Given the description of an element on the screen output the (x, y) to click on. 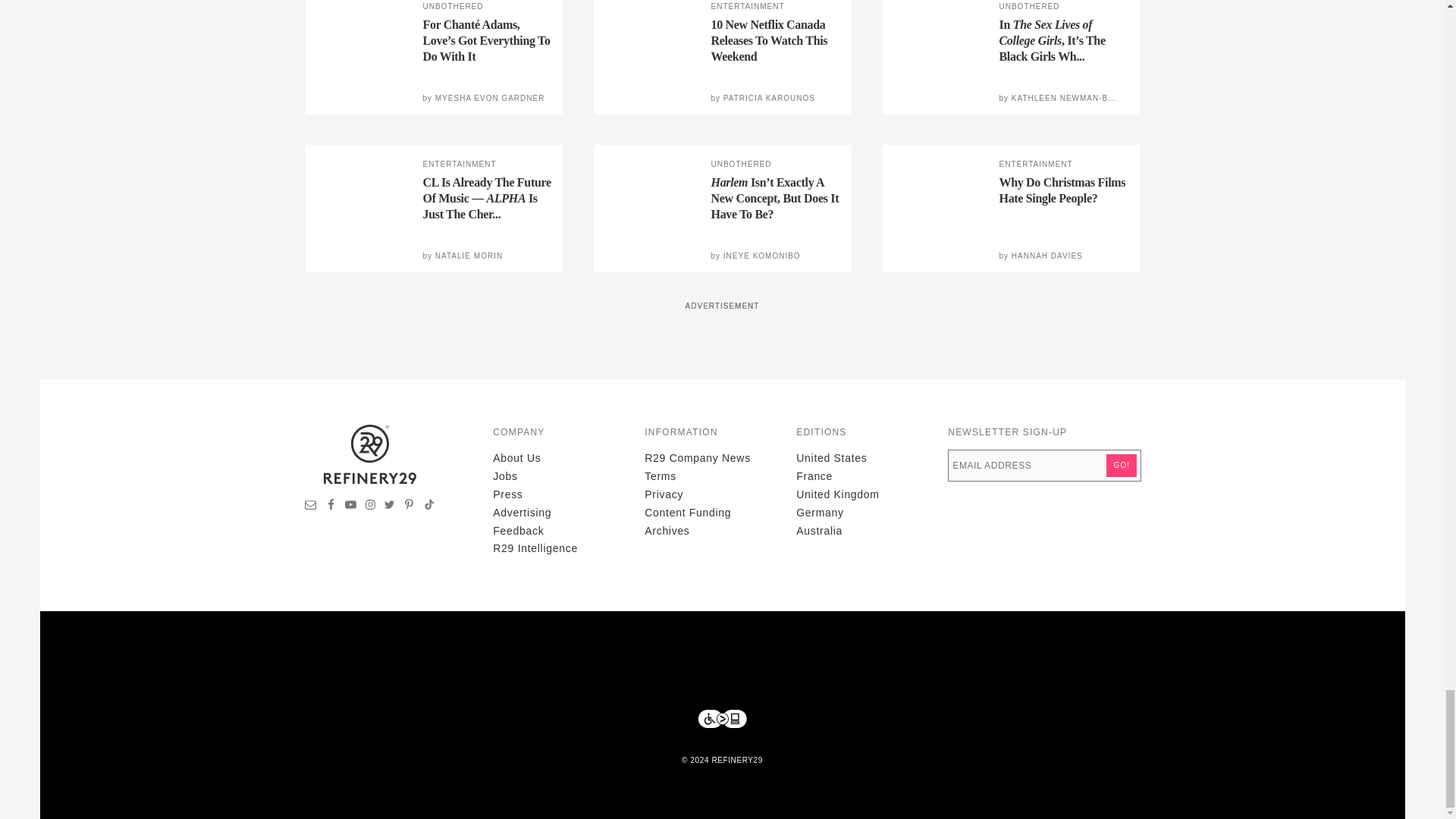
Visit Refinery29 on YouTube (350, 506)
Visit Refinery29 on TikTok (428, 506)
Sign up for newsletters (310, 506)
